Given the description of an element on the screen output the (x, y) to click on. 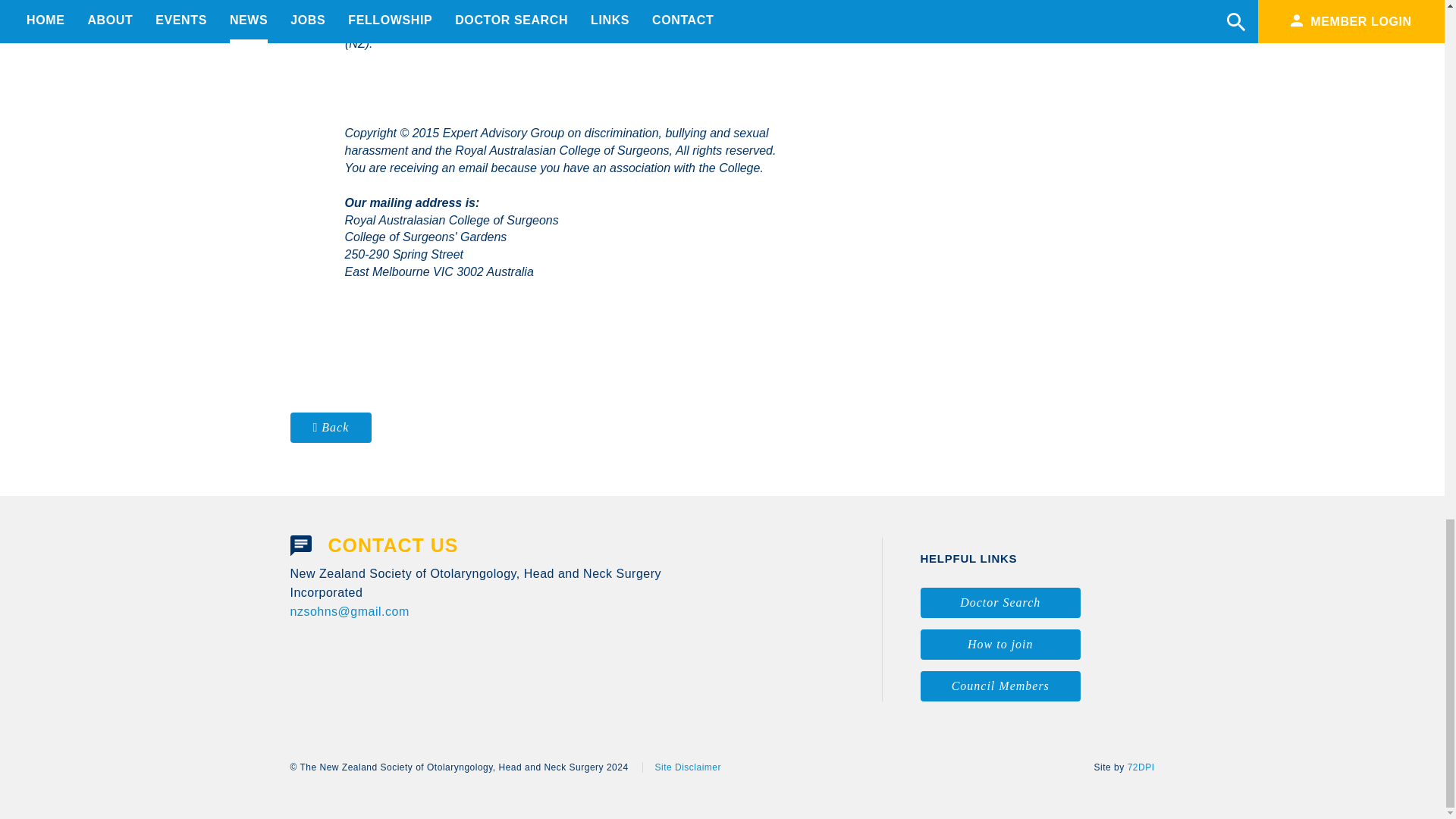
Site Disclaimer (681, 767)
Back (330, 427)
Surgeon Support Program (491, 25)
72DPI (1140, 767)
How to join (1000, 644)
Doctor Search (1000, 603)
Council Members (1000, 685)
